Given the description of an element on the screen output the (x, y) to click on. 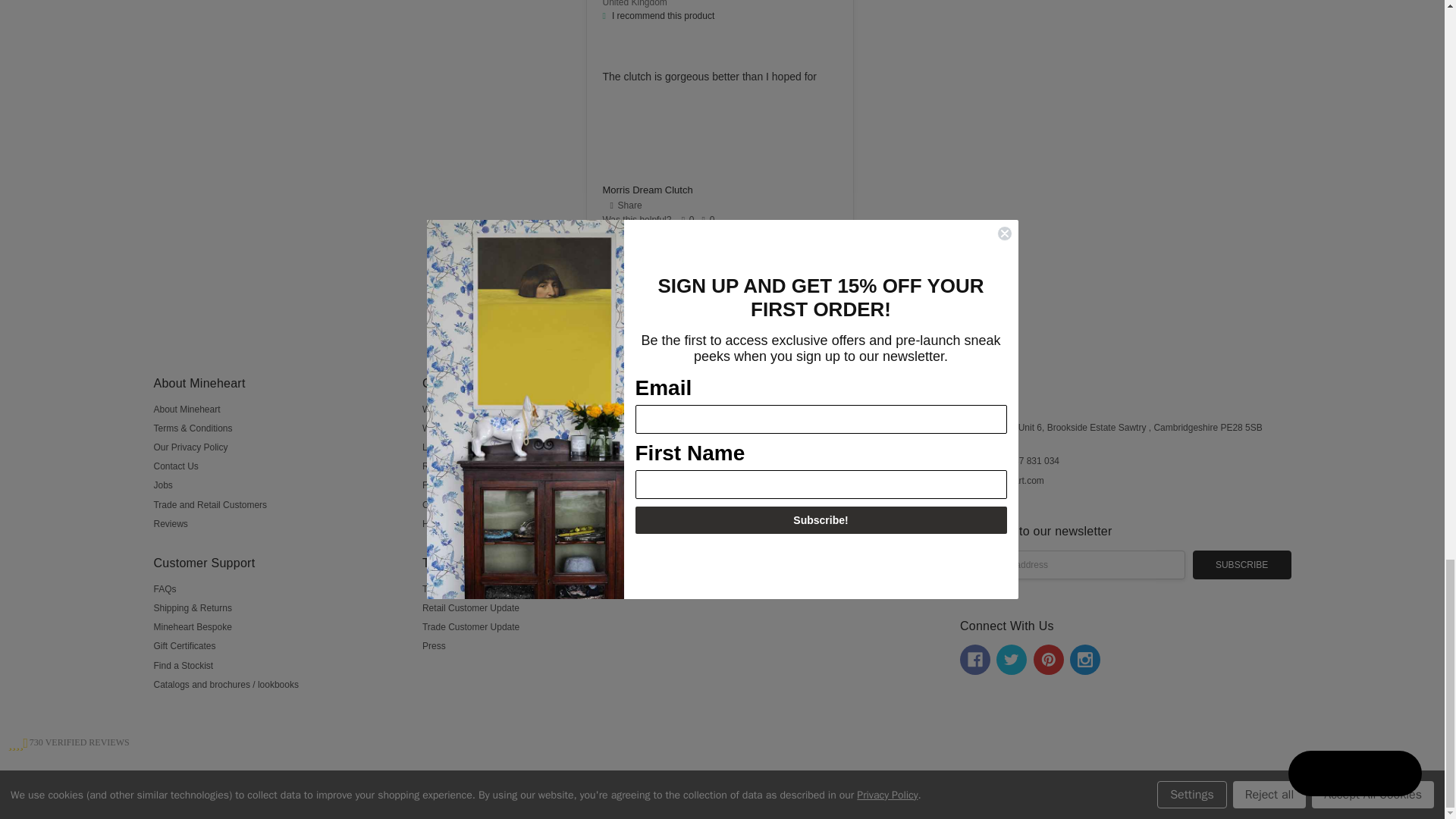
Subscribe (1241, 564)
